Given the description of an element on the screen output the (x, y) to click on. 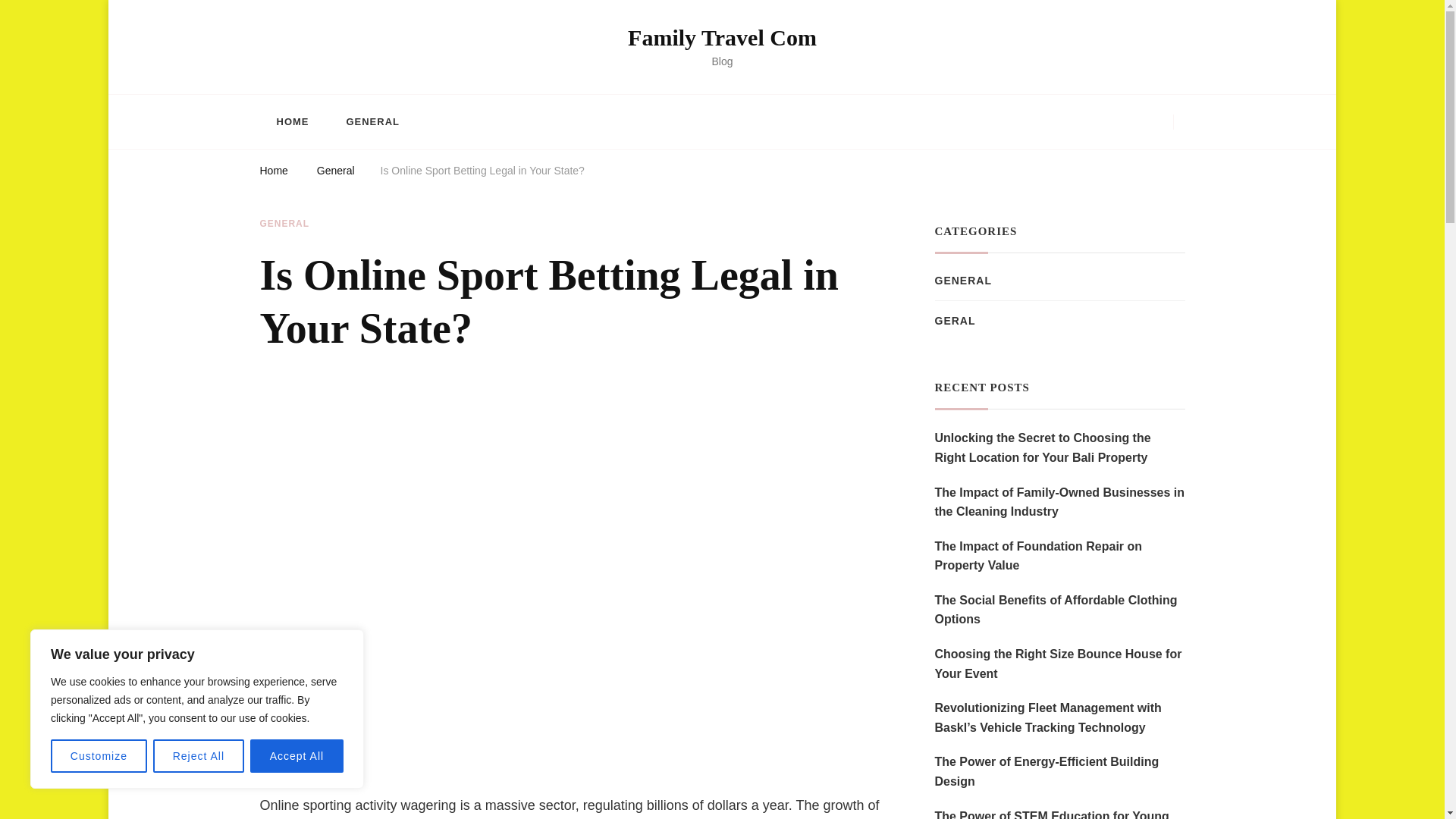
Customize (98, 756)
GENERAL (283, 223)
General (336, 172)
Is Online Sport Betting Legal in Your State? (482, 172)
HOME (291, 121)
Accept All (296, 756)
Home (272, 172)
Reject All (198, 756)
Family Travel Com (721, 37)
GENERAL (371, 121)
